Given the description of an element on the screen output the (x, y) to click on. 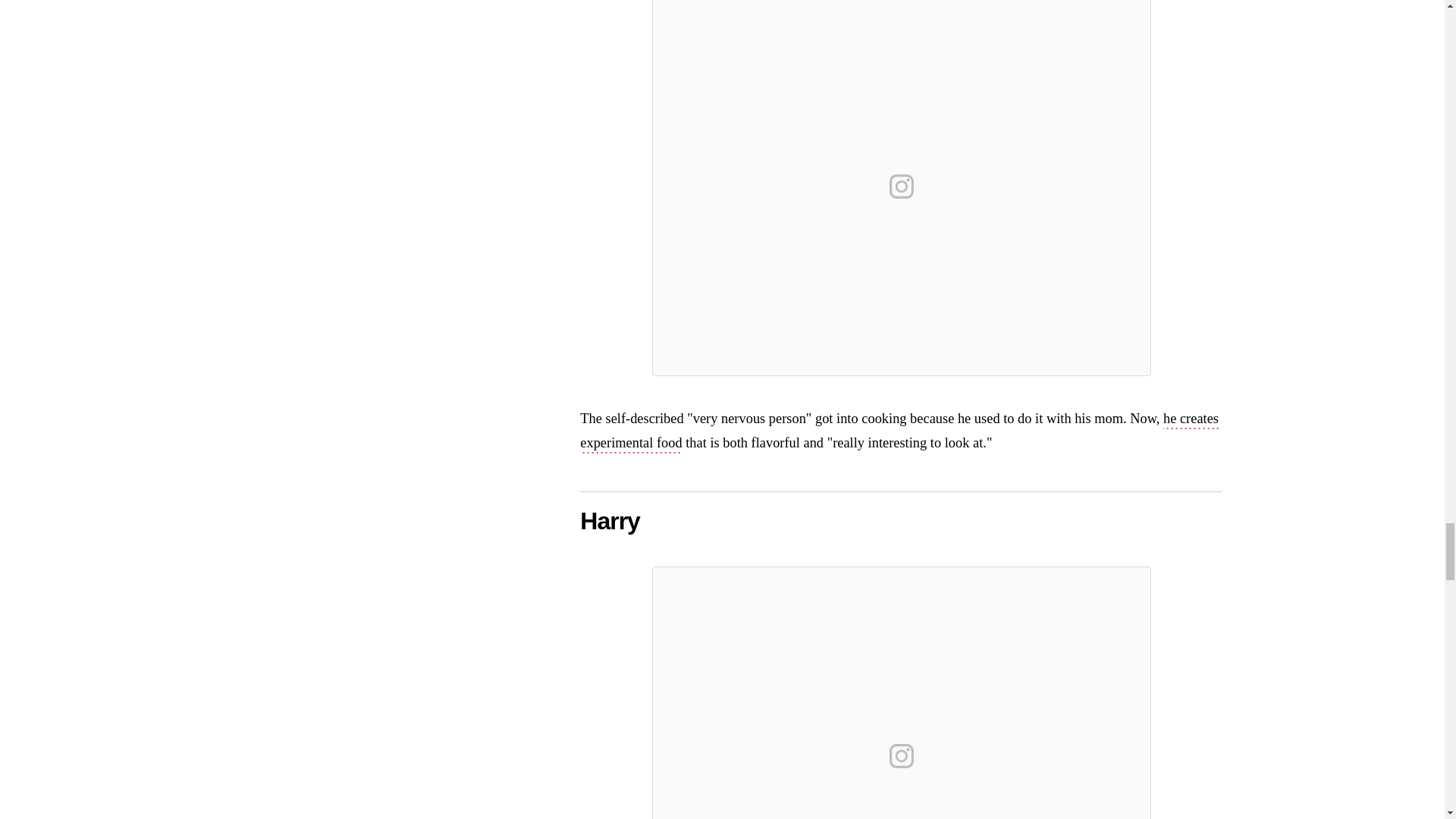
View on Instagram (901, 186)
he creates experimental food (898, 432)
View on Instagram (901, 755)
